Given the description of an element on the screen output the (x, y) to click on. 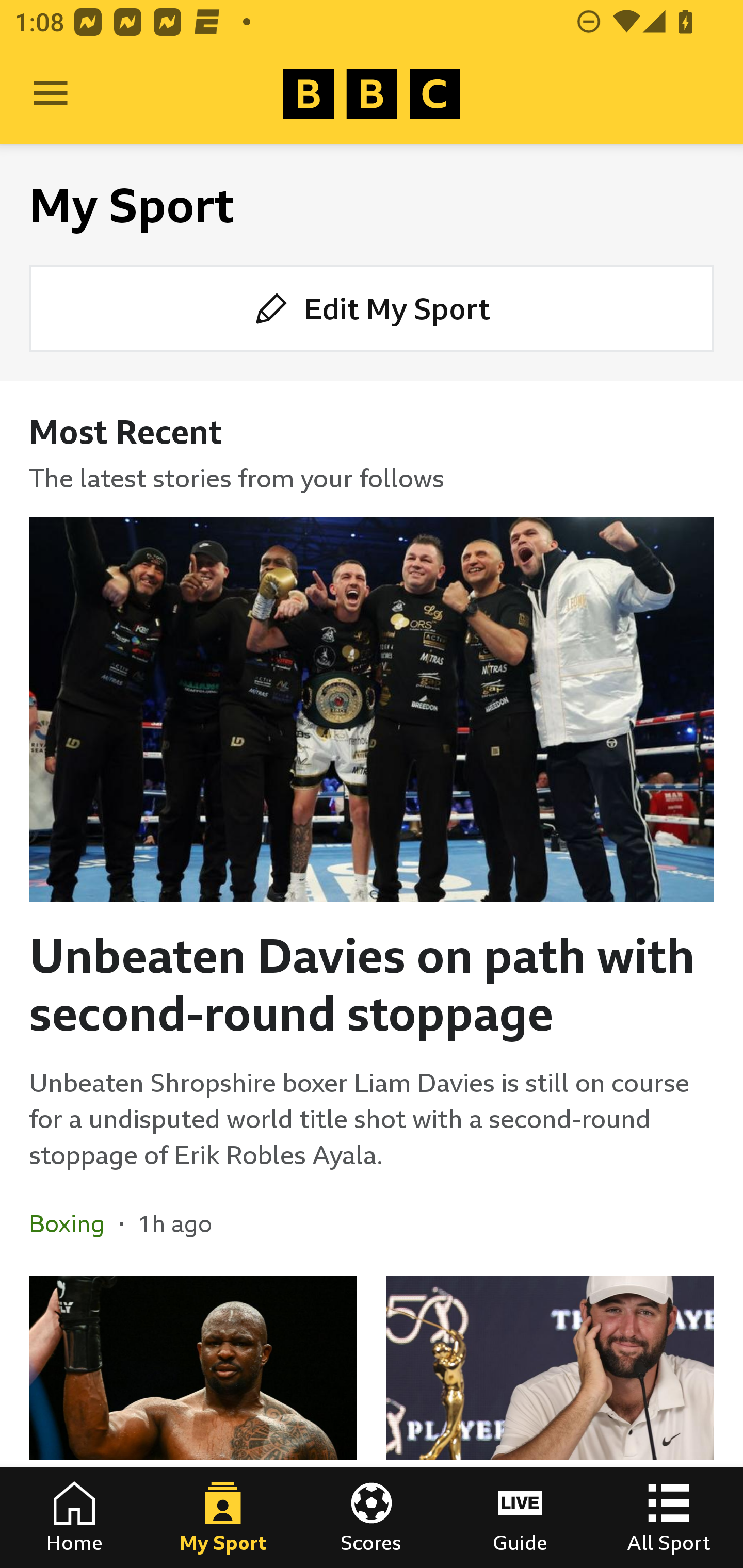
Open Menu (50, 93)
Edit My Sport (371, 307)
Home (74, 1517)
Scores (371, 1517)
Guide (519, 1517)
All Sport (668, 1517)
